Given the description of an element on the screen output the (x, y) to click on. 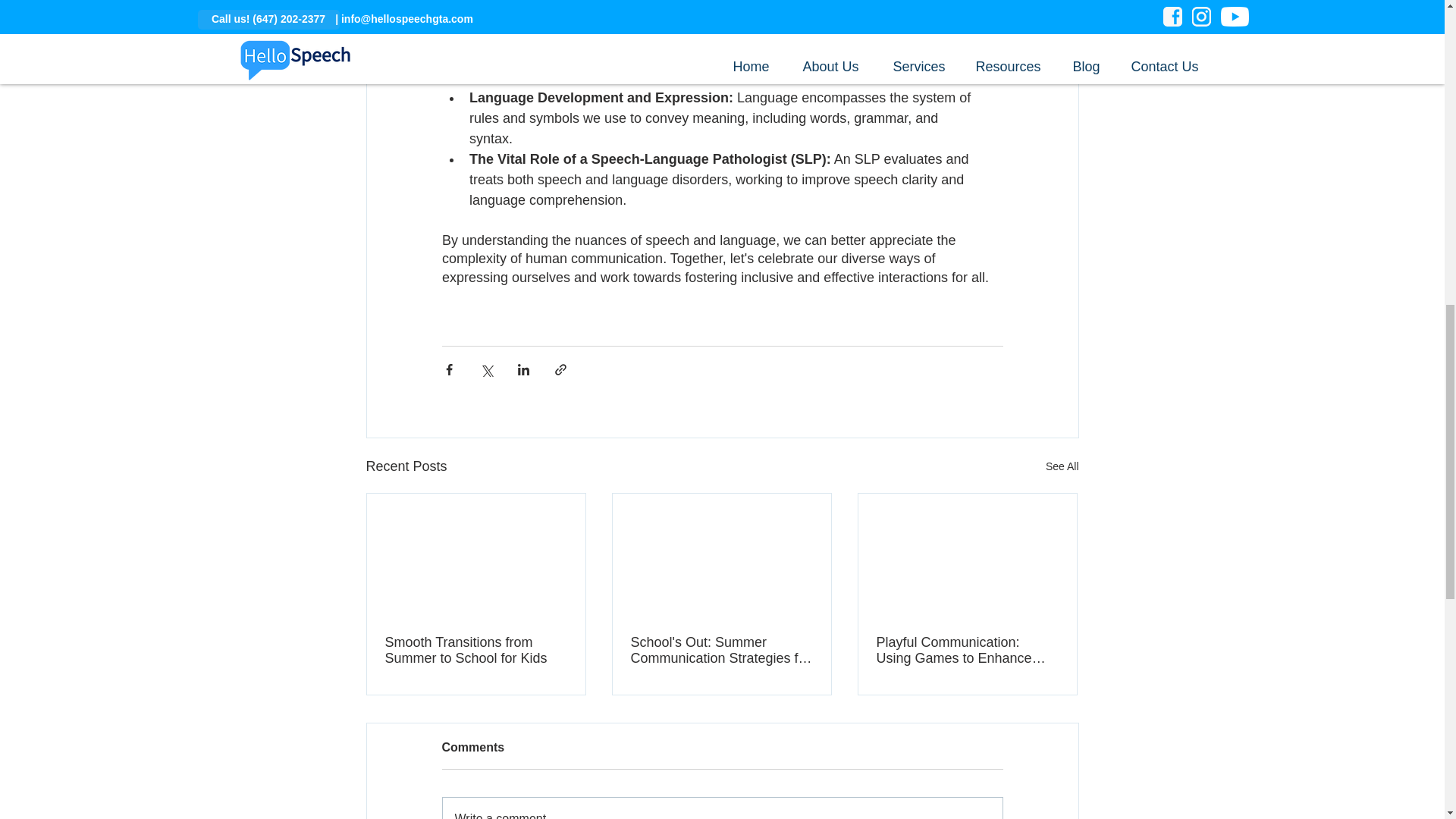
Write a comment... (722, 808)
Smooth Transitions from Summer to School for Kids (476, 650)
See All (1061, 466)
